Given the description of an element on the screen output the (x, y) to click on. 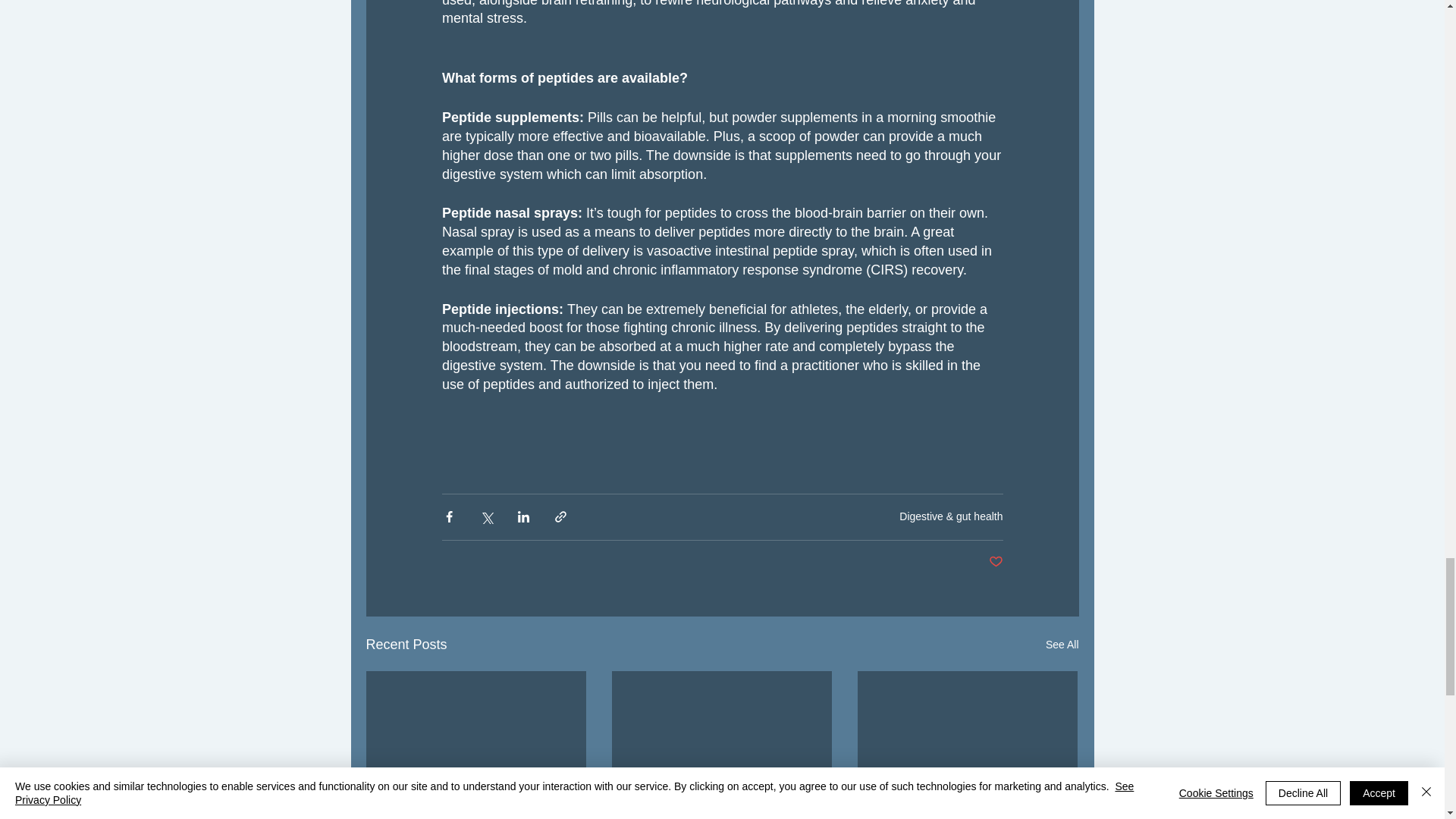
Post not marked as liked (995, 562)
See All (1061, 644)
How to Enjoy BBQs Without Inflammation! (476, 816)
